Given the description of an element on the screen output the (x, y) to click on. 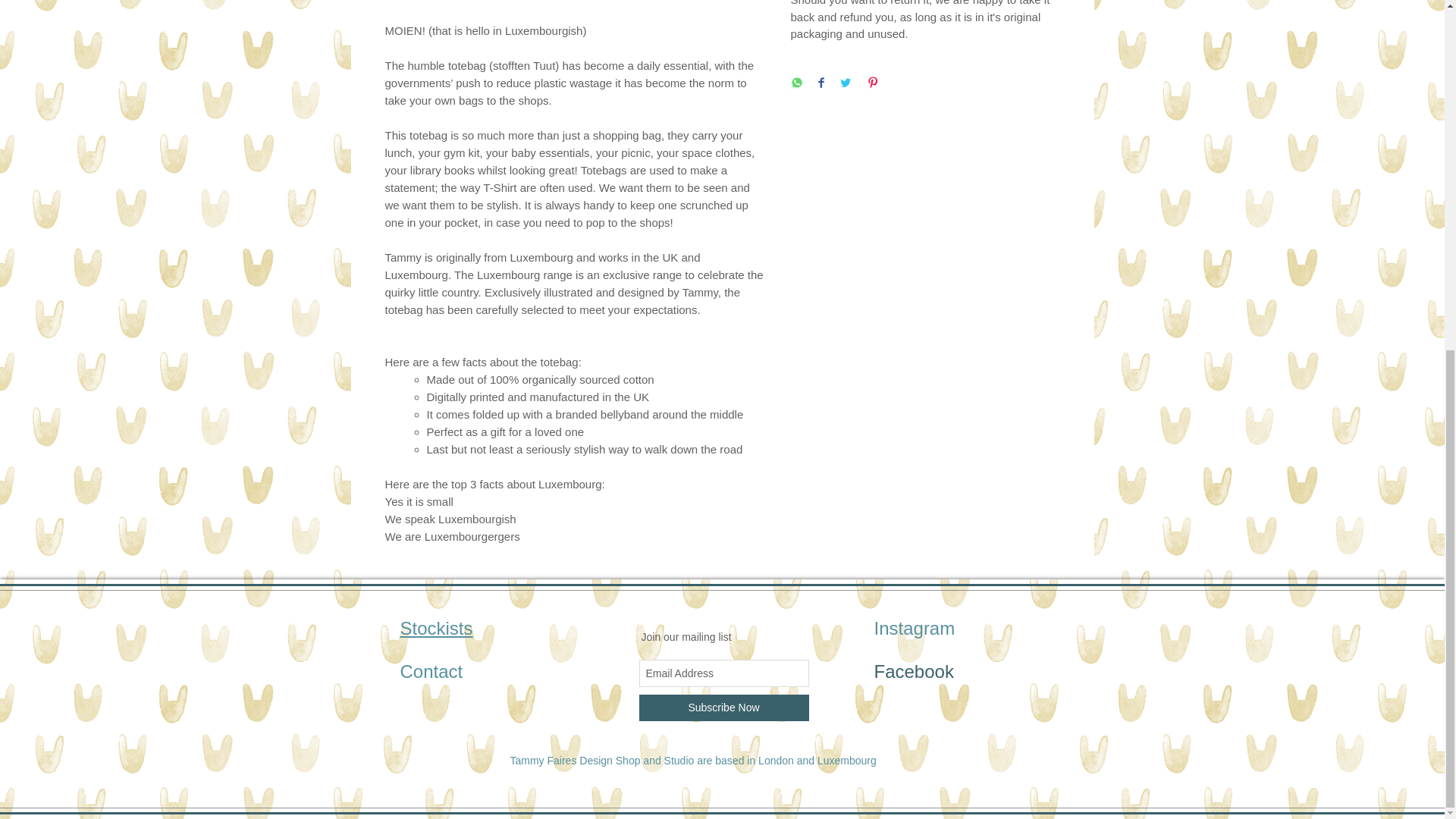
Facebook (913, 670)
Contact (431, 670)
Stockists (436, 628)
Subscribe Now (723, 707)
Instagram (914, 628)
